Given the description of an element on the screen output the (x, y) to click on. 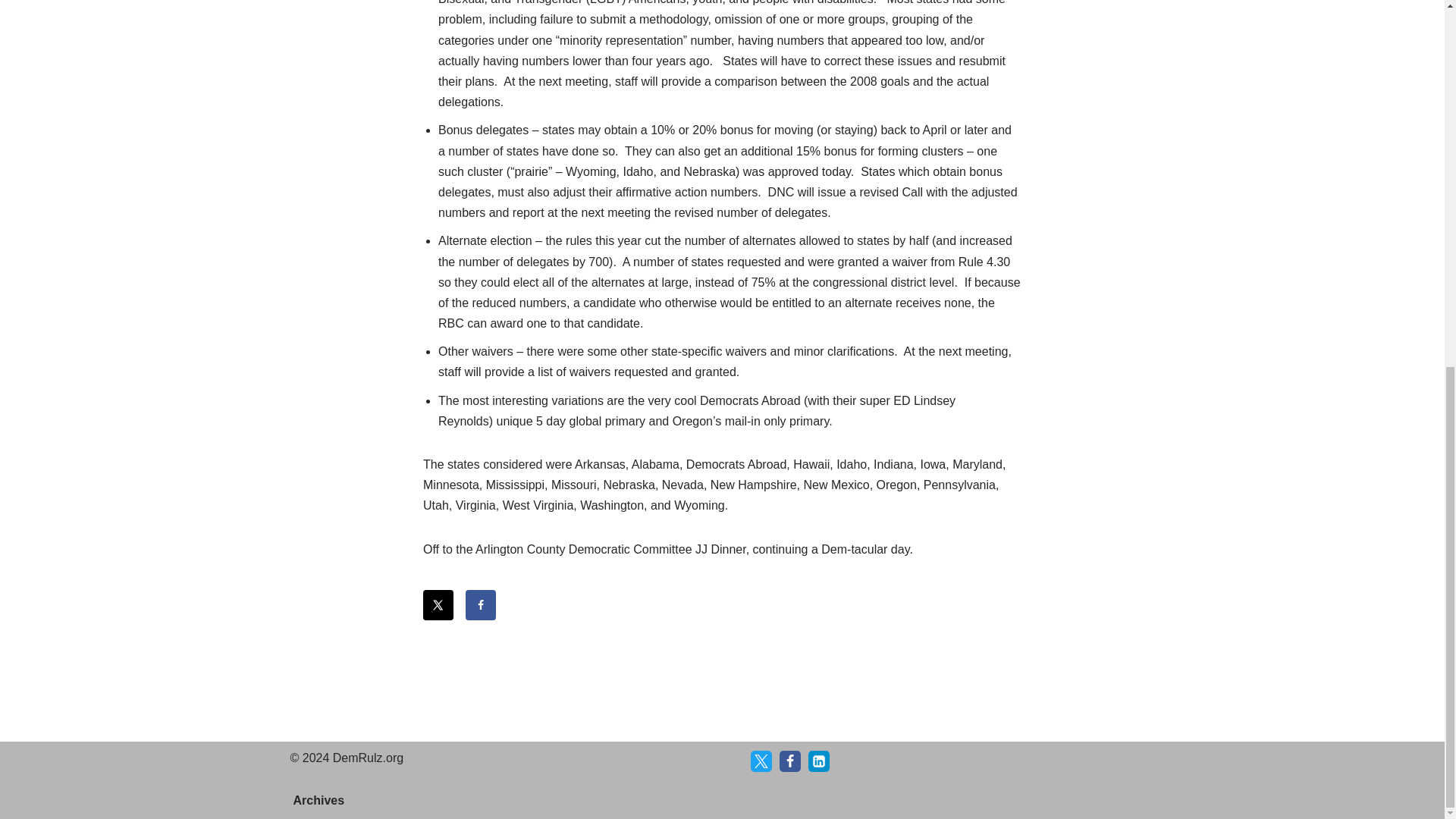
Archives (317, 800)
X (761, 761)
Facebook (789, 761)
LinkedIn (818, 761)
Share on X (437, 604)
Share on Facebook (480, 604)
